Given the description of an element on the screen output the (x, y) to click on. 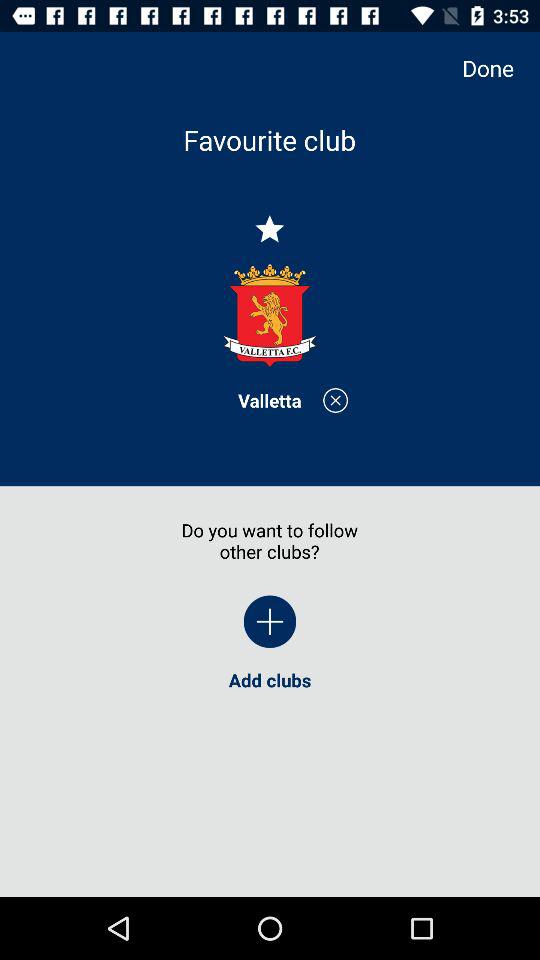
flip to valletta item (269, 400)
